Given the description of an element on the screen output the (x, y) to click on. 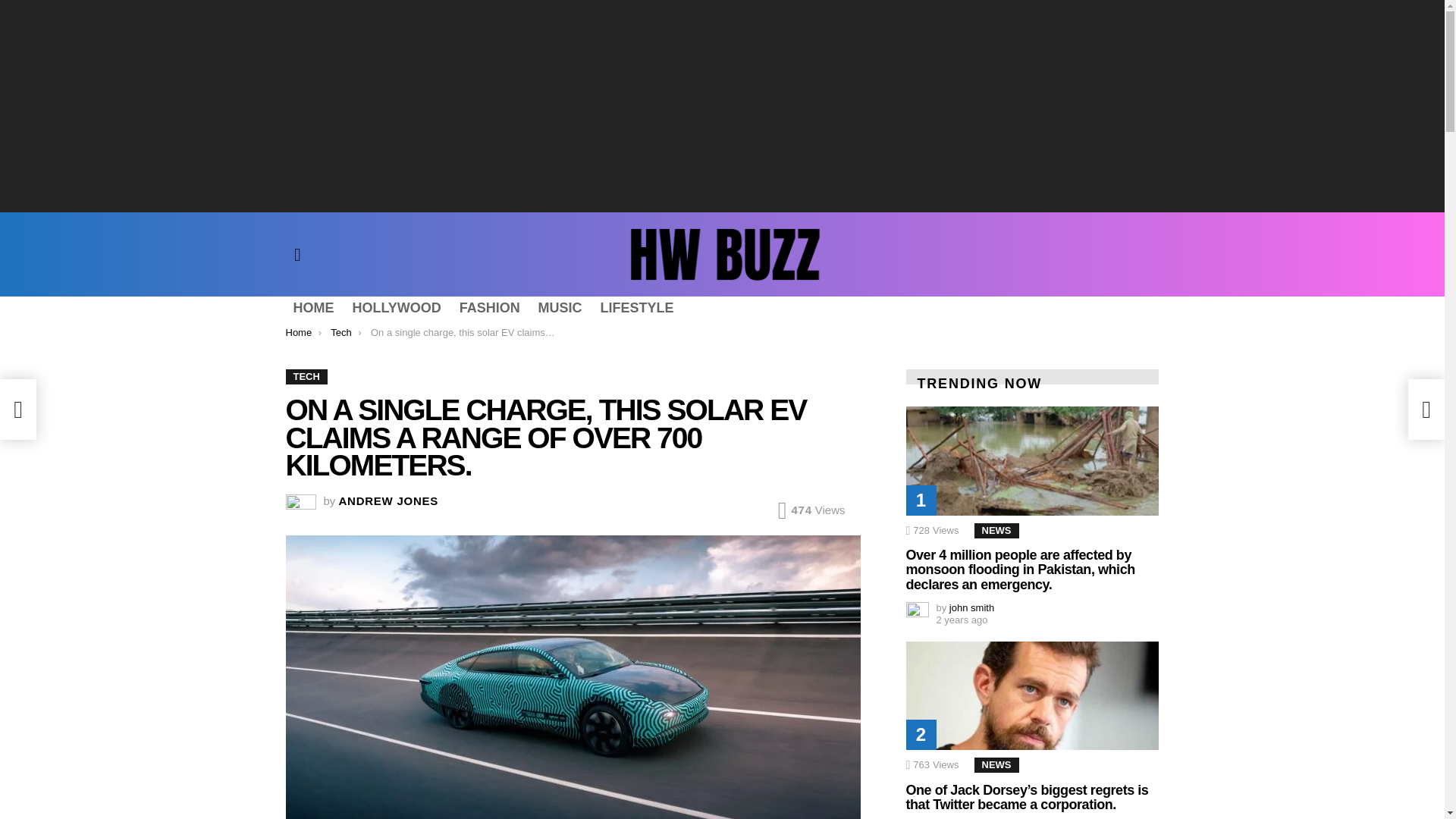
TECH (305, 376)
Home (298, 332)
ANDREW JONES (389, 500)
HOME (312, 307)
Posts by Andrew Jones (389, 500)
MUSIC (560, 307)
Tech (340, 332)
HOLLYWOOD (395, 307)
Menu (296, 254)
FASHION (489, 307)
LIFESTYLE (636, 307)
